Given the description of an element on the screen output the (x, y) to click on. 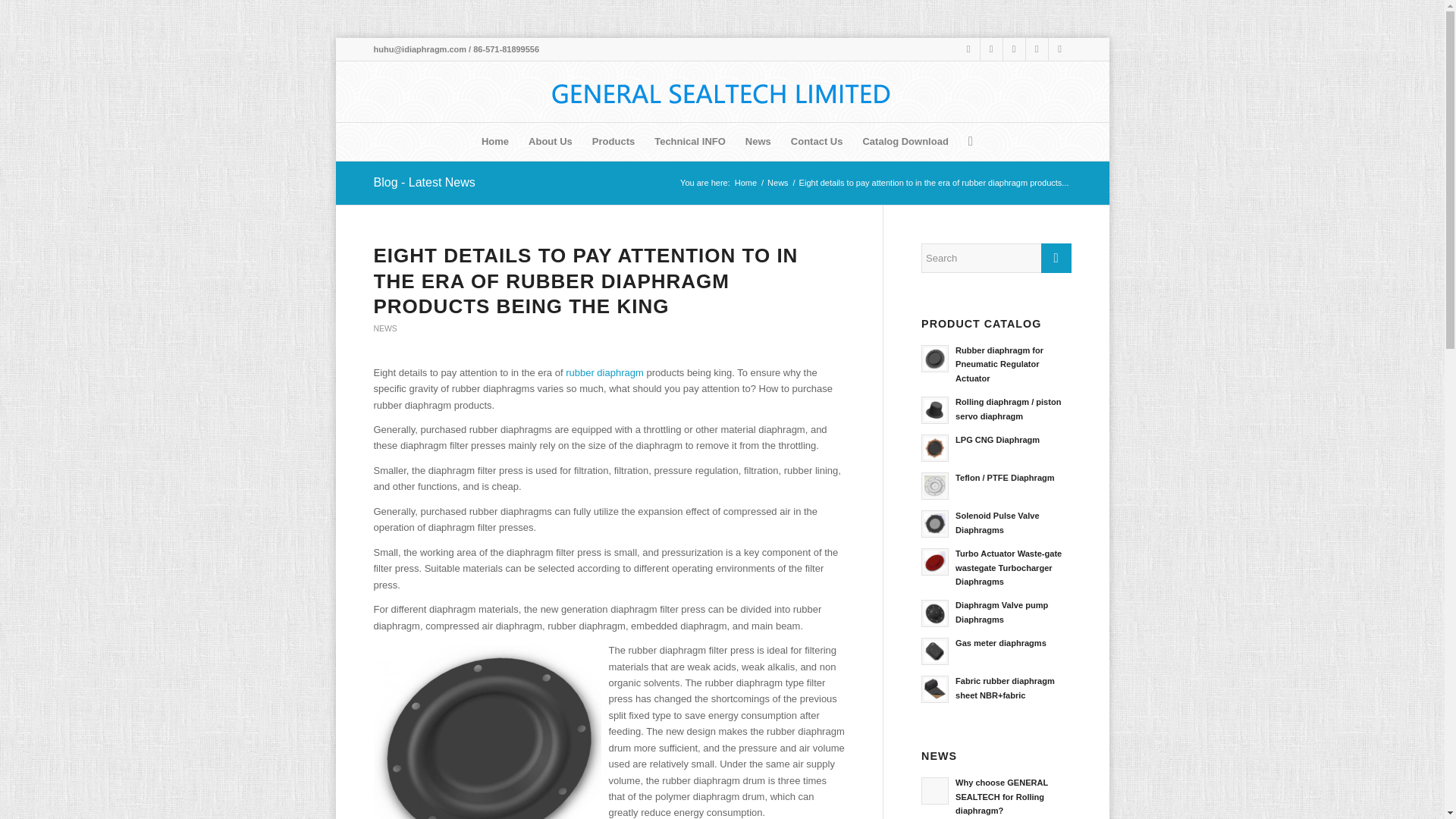
Technical INFO (690, 141)
About Us (550, 141)
Permanent Link: Blog - Latest News (423, 182)
Home (494, 141)
GENERAL SEALTECH LIMITED (745, 183)
Products (613, 141)
